Given the description of an element on the screen output the (x, y) to click on. 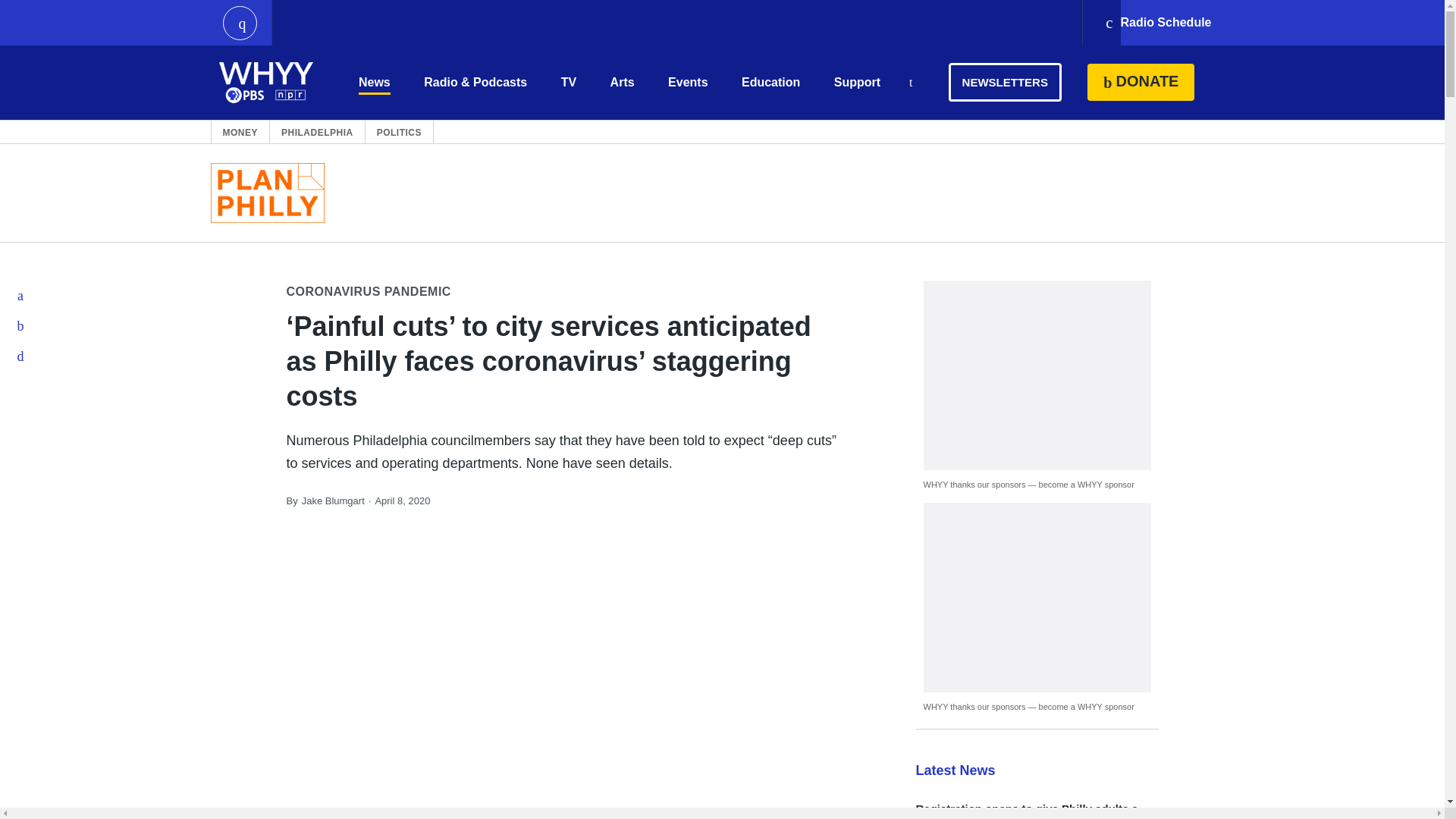
Email (21, 356)
plan-philly-masthead-sm (267, 192)
POLITICS (399, 132)
Twitter (21, 326)
Facebook (21, 295)
Search (910, 83)
Radio Schedule (1157, 22)
PHILADELPHIA (317, 132)
WHYY (266, 82)
